Given the description of an element on the screen output the (x, y) to click on. 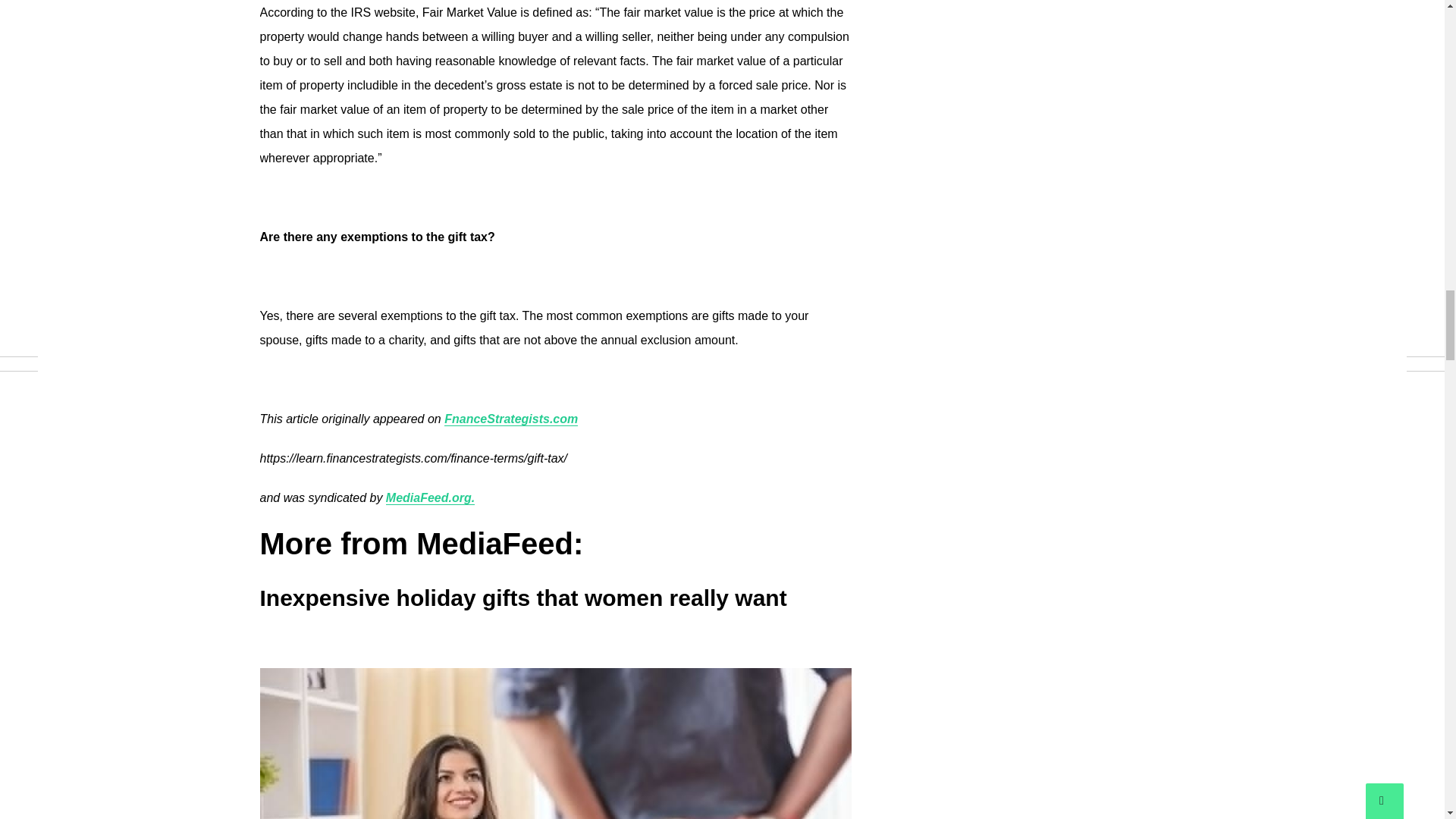
MediaFeed.org. (429, 498)
Gift Ideas for Women 2021 (554, 743)
FnanceStrategists.com (511, 418)
